Given the description of an element on the screen output the (x, y) to click on. 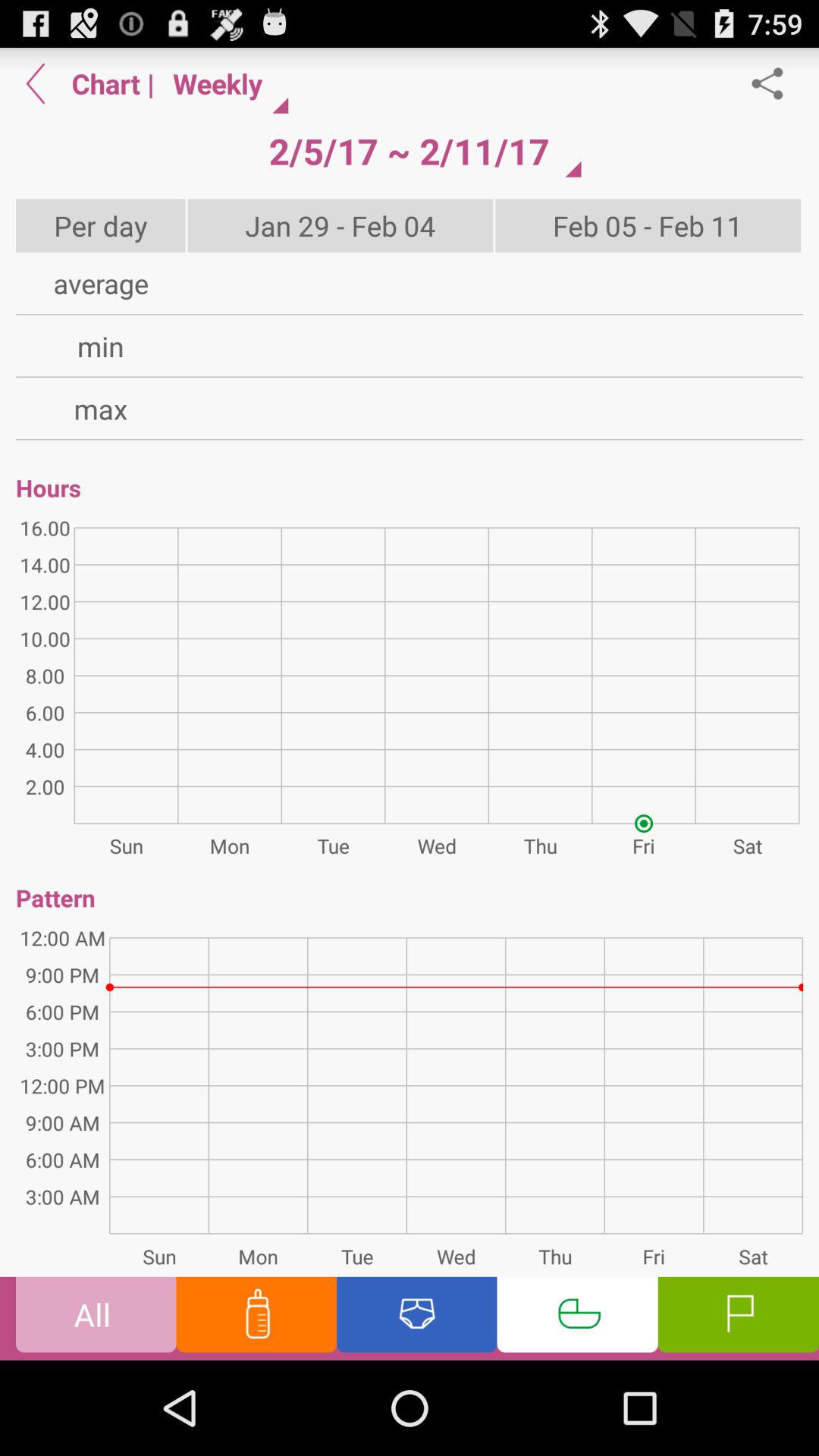
turn on icon next to the  | (224, 83)
